Given the description of an element on the screen output the (x, y) to click on. 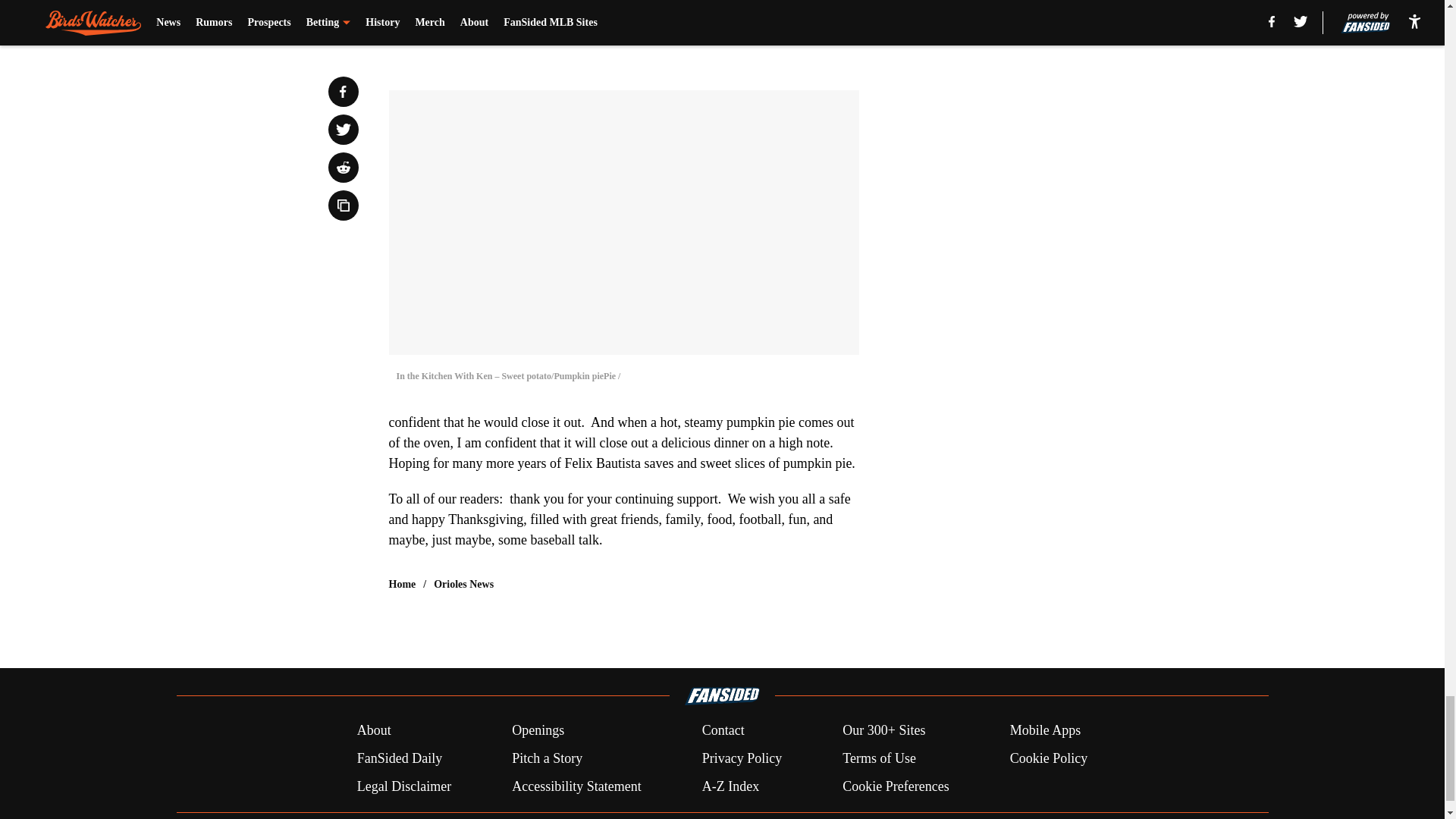
Pitch a Story (547, 758)
Mobile Apps (1045, 730)
Home (401, 584)
Privacy Policy (742, 758)
Contact (722, 730)
FanSided Daily (399, 758)
Openings (538, 730)
About (373, 730)
Terms of Use (879, 758)
Orioles News (463, 584)
